Given the description of an element on the screen output the (x, y) to click on. 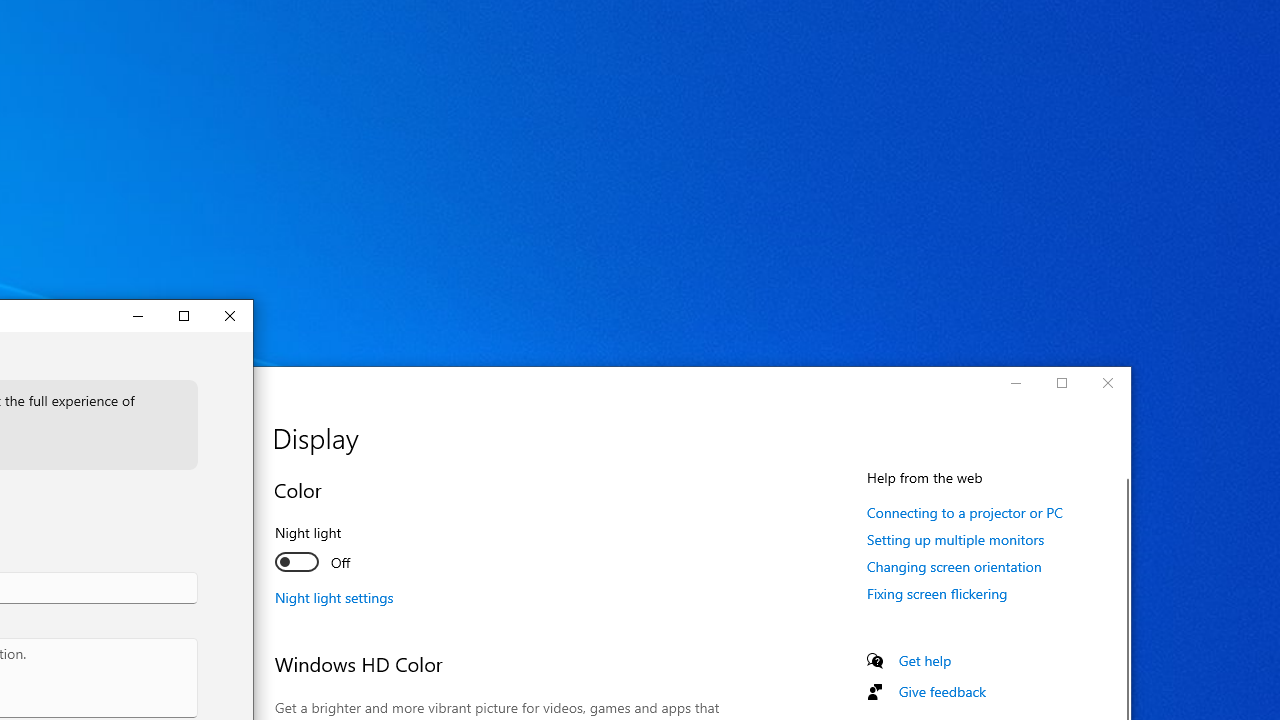
Vertical Small Decrease (246, 386)
Maximize Feedback Hub (184, 315)
Close Feedback Hub (230, 315)
Minimize Feedback Hub (138, 315)
